Given the description of an element on the screen output the (x, y) to click on. 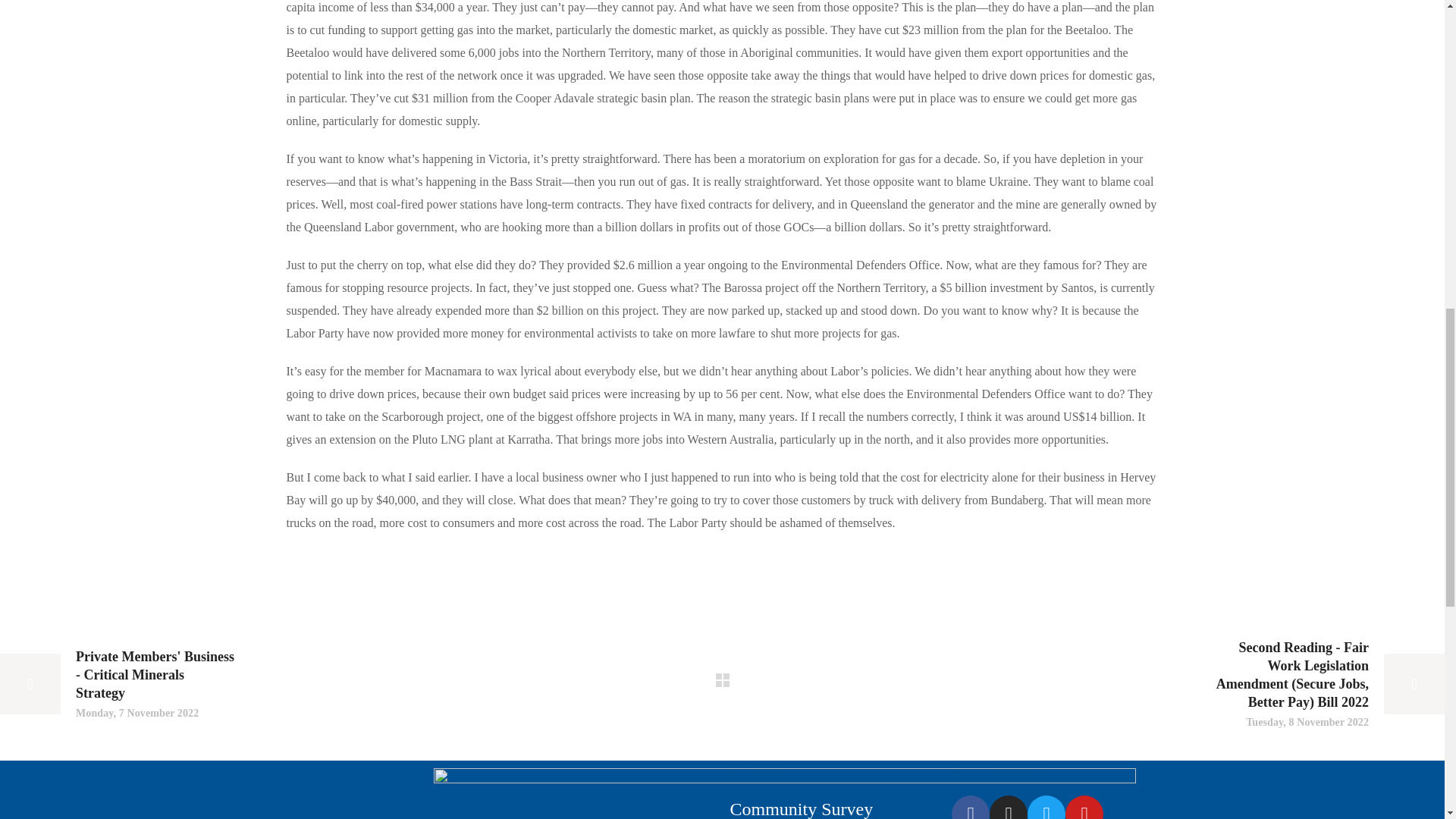
Private Members' Business - Critical Minerals Strategy (117, 684)
